Given the description of an element on the screen output the (x, y) to click on. 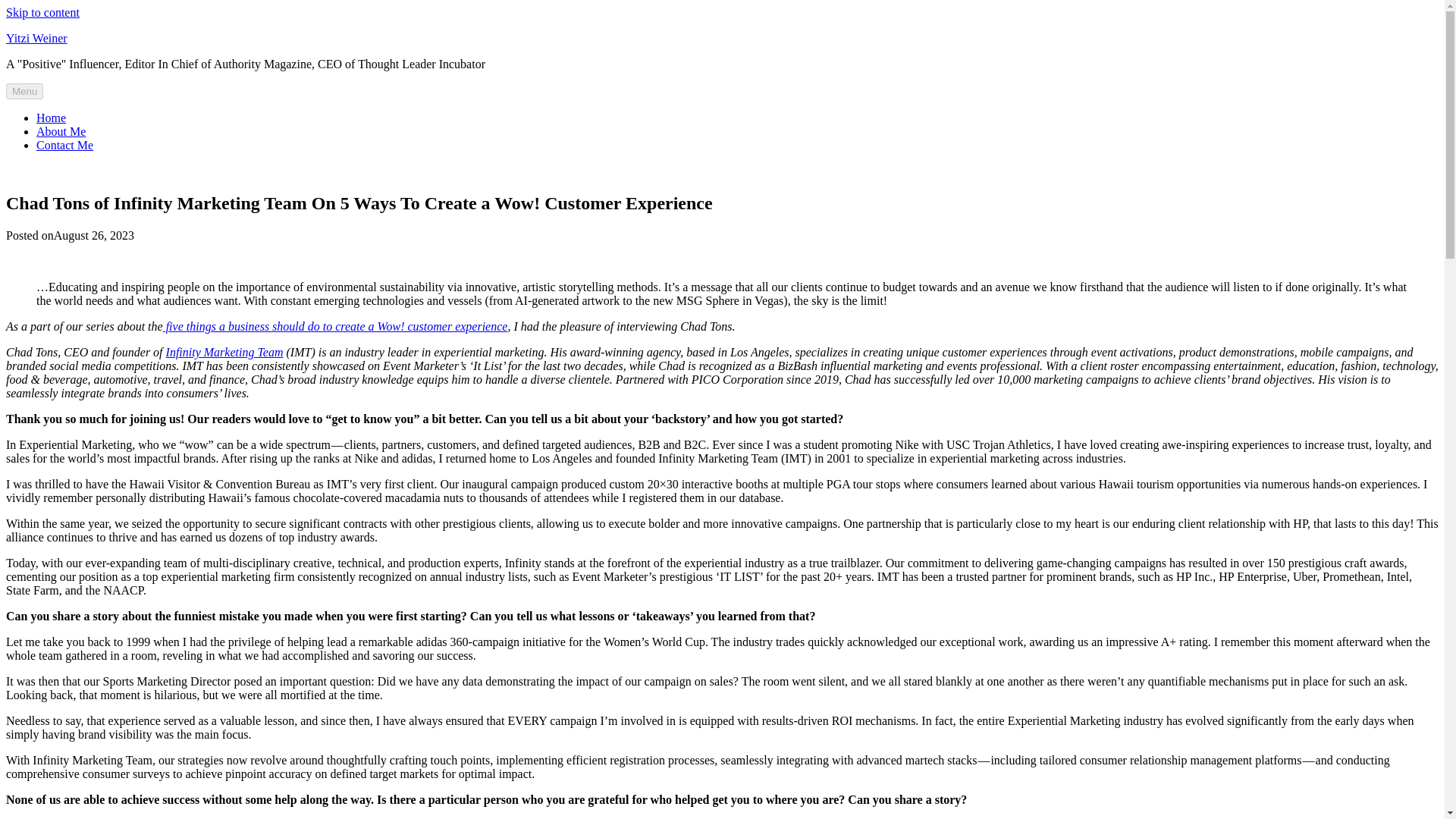
Skip to content (42, 11)
Yitzi Weiner (35, 38)
Menu (24, 91)
About Me (60, 131)
Home (50, 117)
Infinity Marketing Team (224, 351)
Contact Me (64, 144)
